Given the description of an element on the screen output the (x, y) to click on. 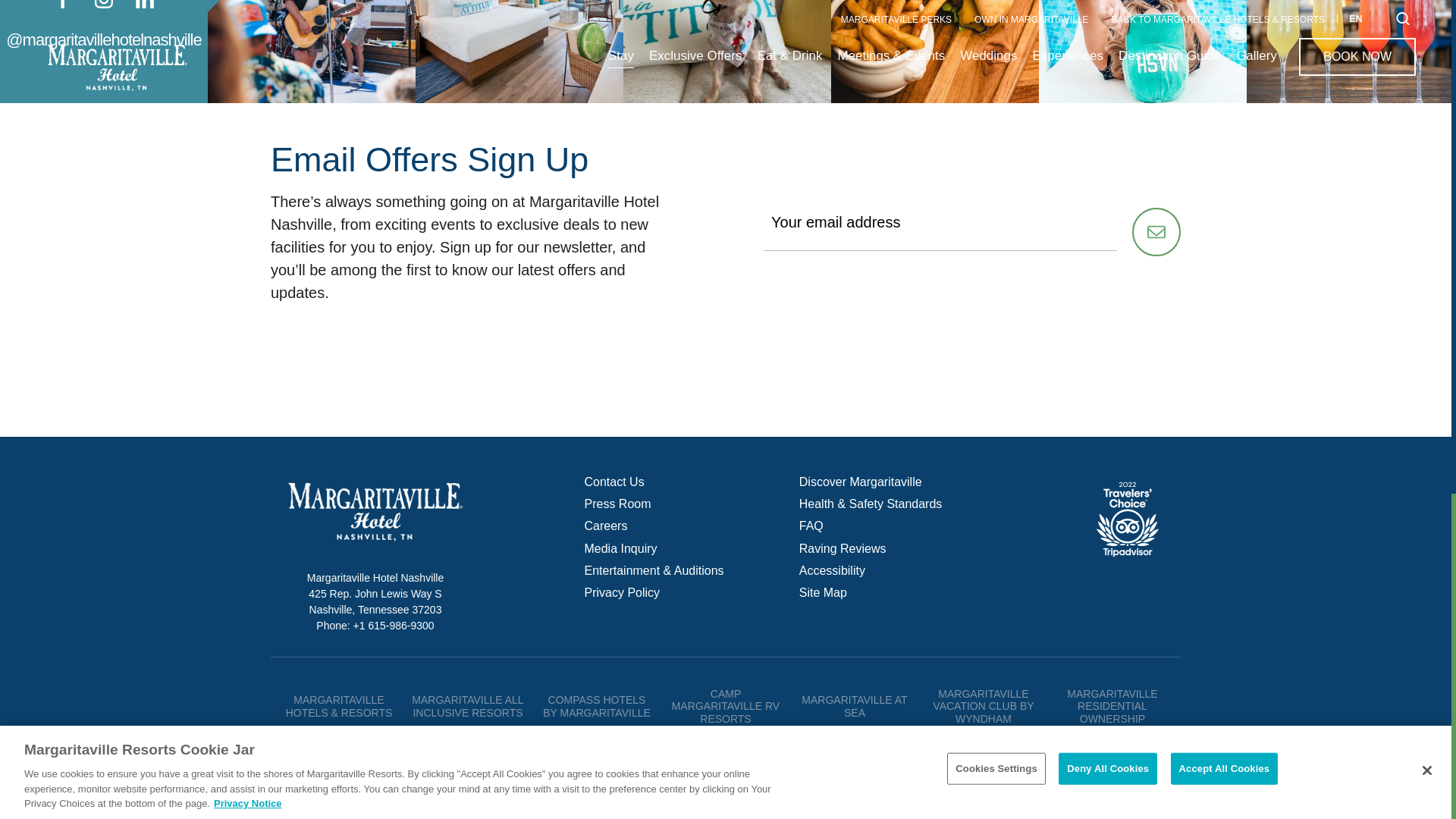
Margaritaville Residential Ownership (1112, 706)
Margaritaville Vacation Club By Wyndham (983, 706)
Margaritaville All Inclusive Resorts (467, 706)
Compass Hotels By Margaritaville (596, 706)
Sign Up (1156, 232)
Camp Margaritaville RV Resorts (724, 706)
Margaritaville at Sea (854, 706)
